Given the description of an element on the screen output the (x, y) to click on. 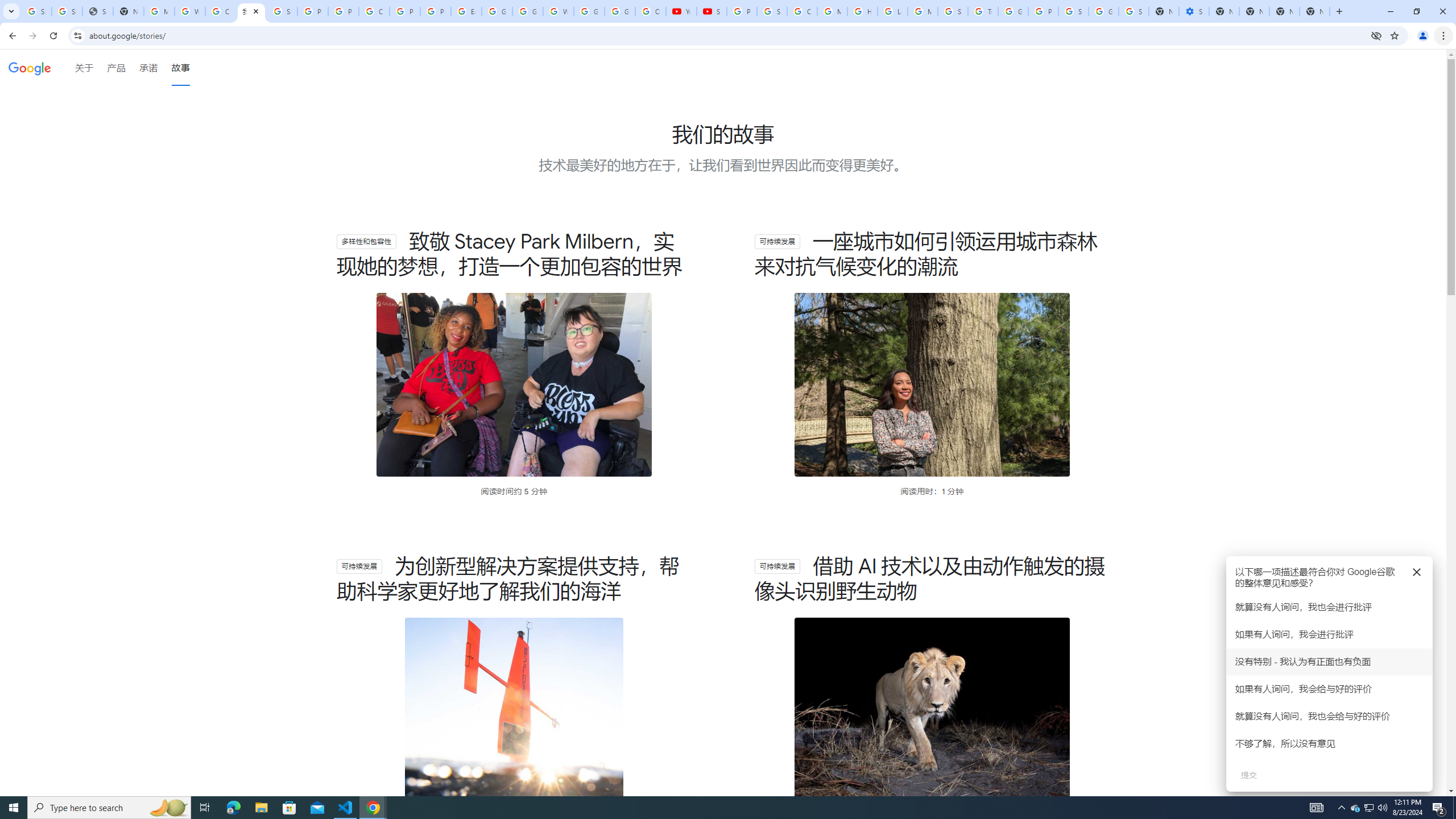
Google Account (619, 11)
Sign in - Google Accounts (282, 11)
Google Ads - Sign in (1012, 11)
